Given the description of an element on the screen output the (x, y) to click on. 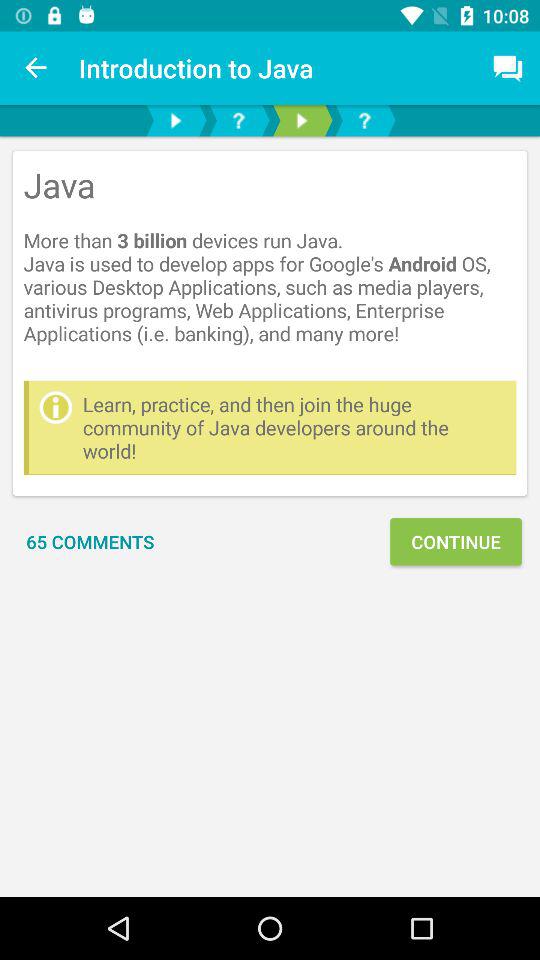
click to media players (301, 120)
